Given the description of an element on the screen output the (x, y) to click on. 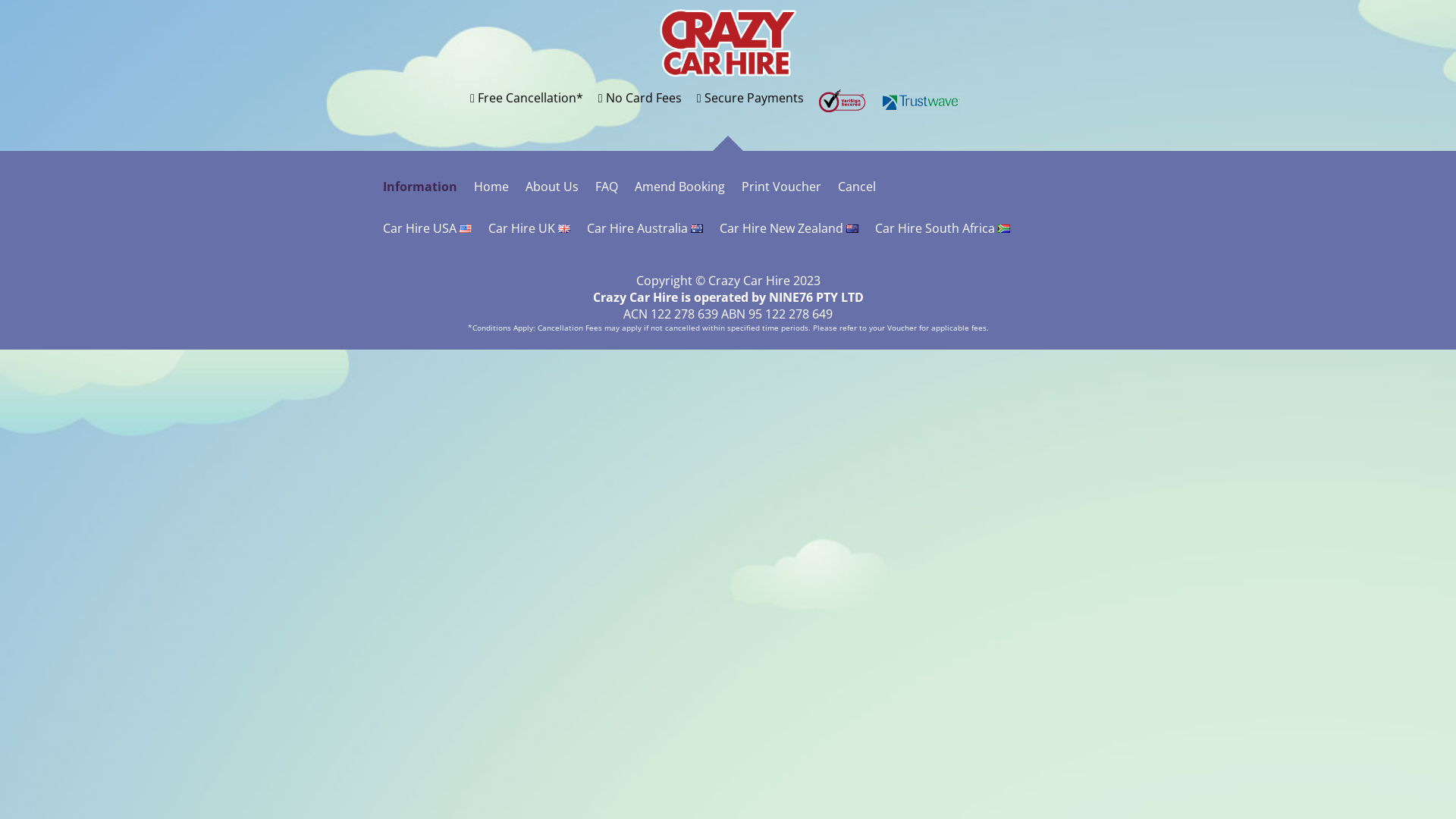
Car Hire South Africa Element type: text (942, 227)
FAQ Element type: text (606, 186)
Car Hire UK Element type: text (529, 227)
Home Element type: text (490, 186)
Car Hire Australia Element type: text (644, 227)
Car Hire New Zealand Element type: text (788, 227)
Cancel Element type: text (856, 186)
Amend Booking Element type: text (679, 186)
About Us Element type: text (551, 186)
Car Hire USA Element type: text (426, 227)
Print Voucher Element type: text (781, 186)
